Given the description of an element on the screen output the (x, y) to click on. 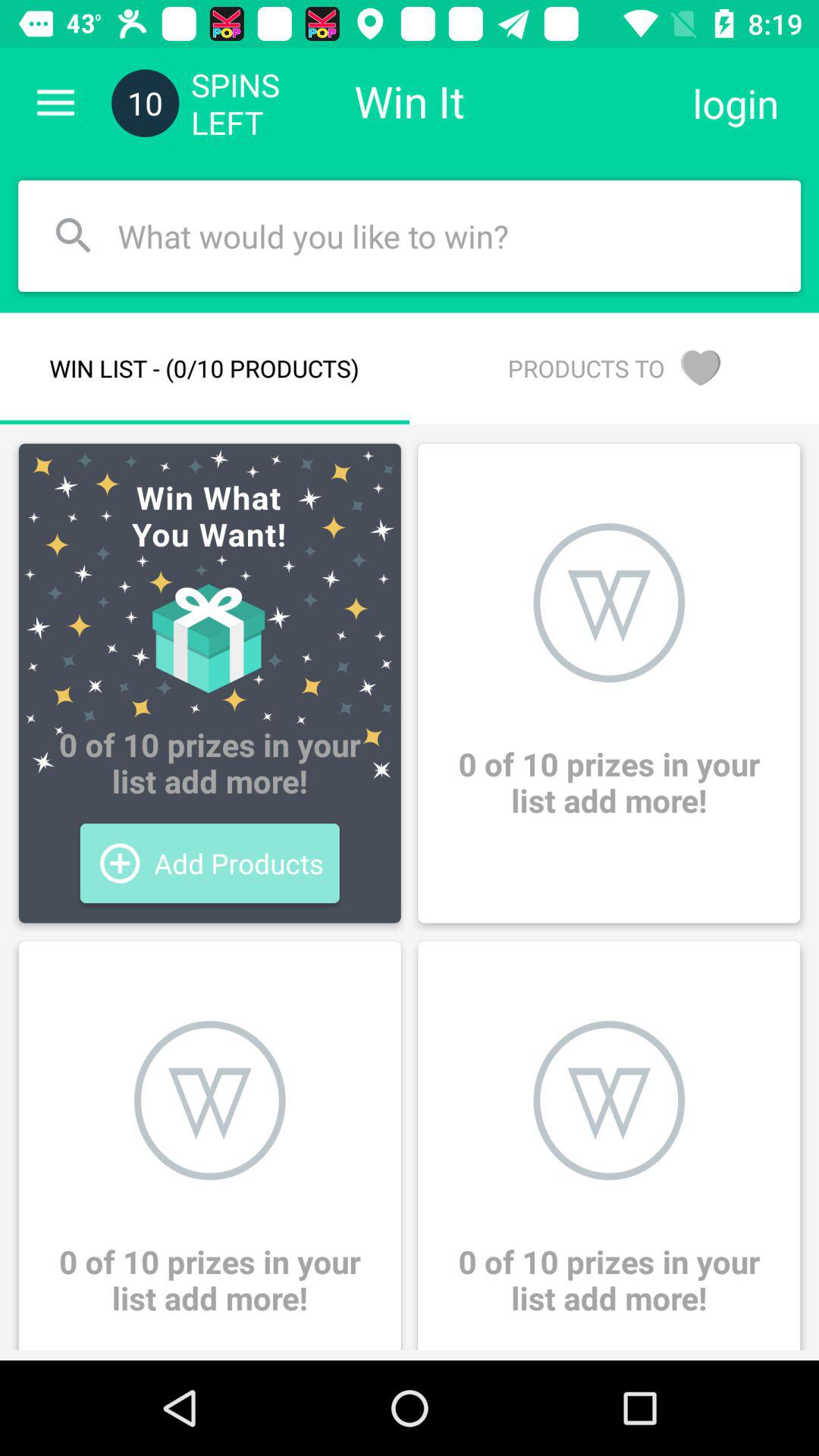
click on the search icon in the search bar (73, 236)
